Given the description of an element on the screen output the (x, y) to click on. 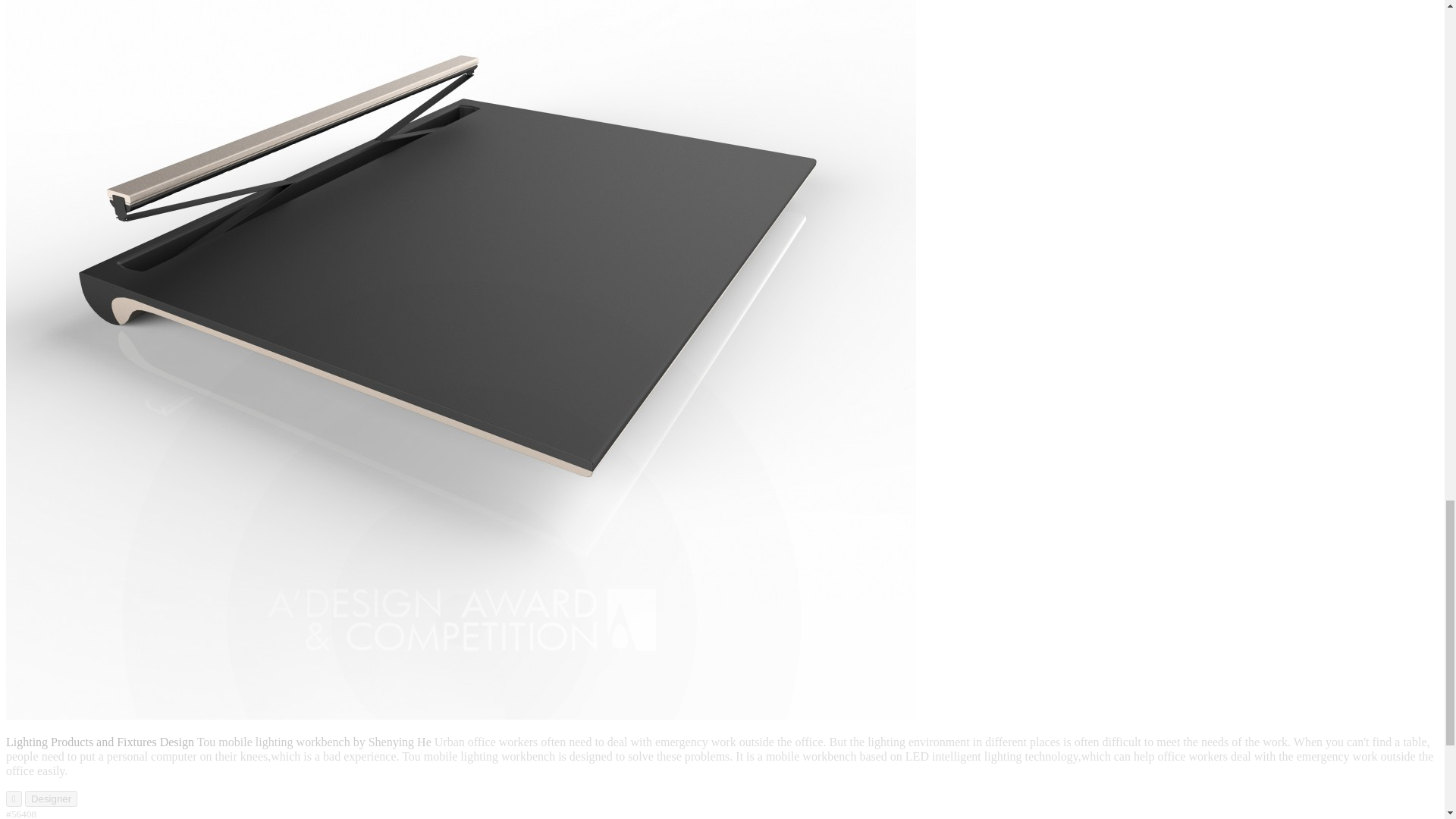
Designer (50, 798)
